Given the description of an element on the screen output the (x, y) to click on. 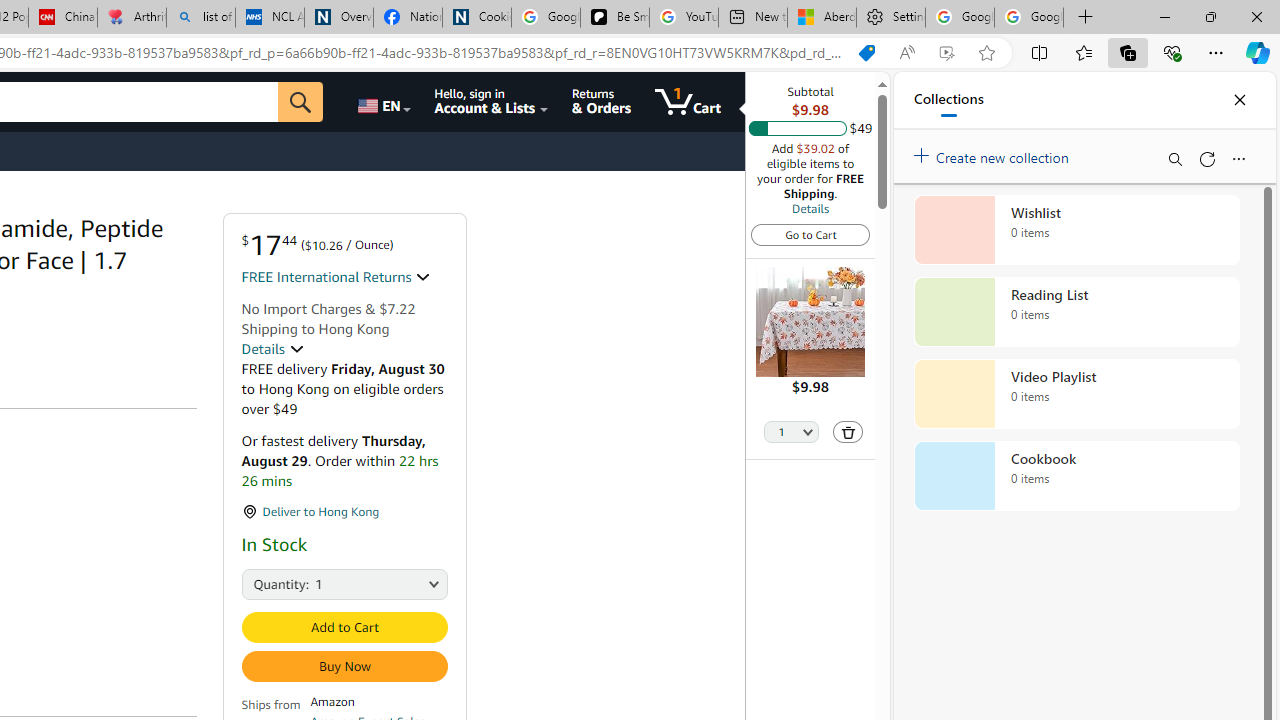
Reading List collection, 0 items (1076, 312)
Create new collection (994, 153)
Enhance video (946, 53)
More options menu (1238, 158)
